Given the description of an element on the screen output the (x, y) to click on. 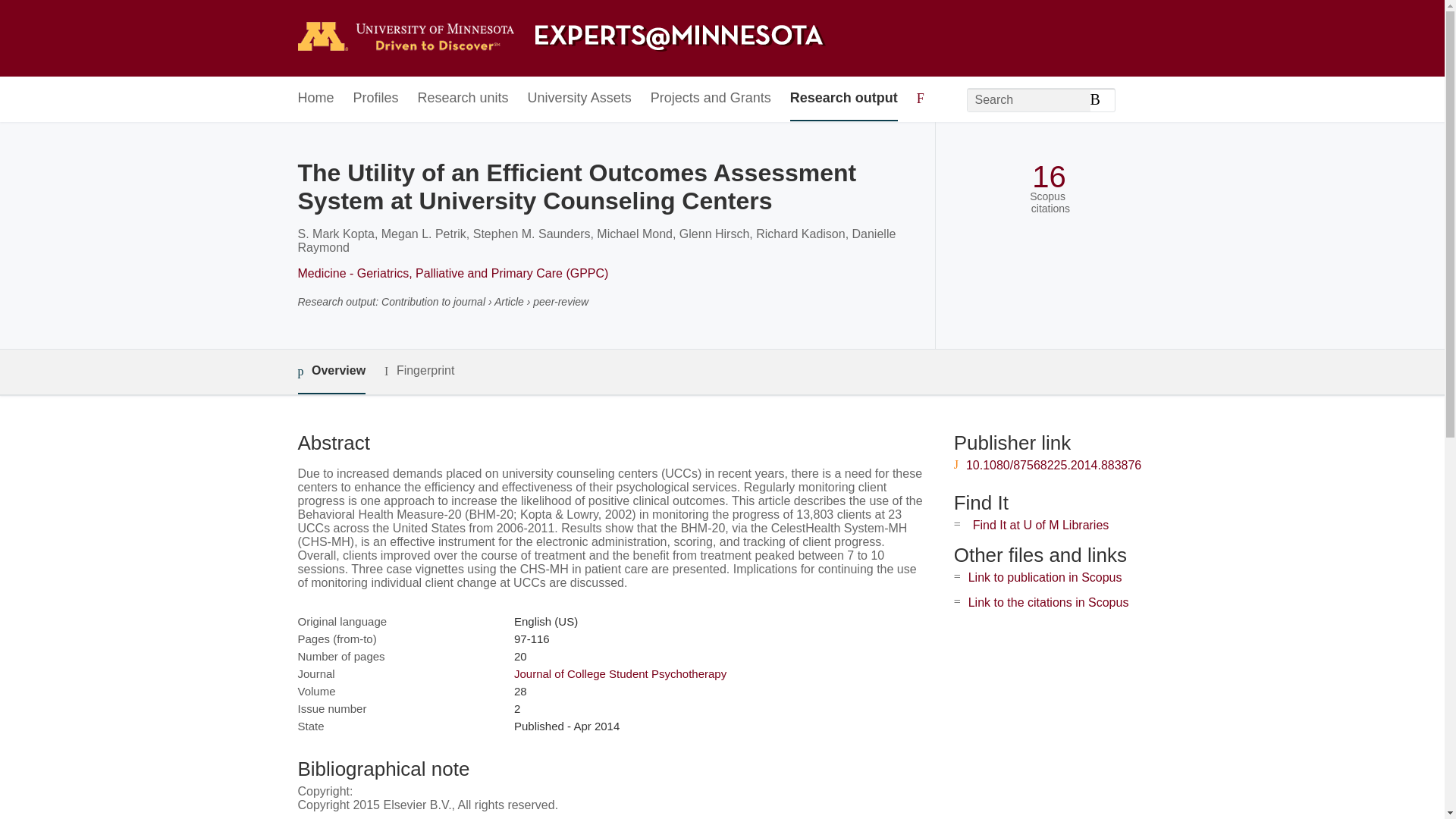
Link to publication in Scopus (1045, 576)
16 (1048, 176)
Research units (462, 98)
Journal of College Student Psychotherapy (619, 673)
Link to the citations in Scopus (1048, 602)
Overview (331, 371)
Find It at U of M Libraries (1040, 524)
Fingerprint (419, 371)
Projects and Grants (710, 98)
